Given the description of an element on the screen output the (x, y) to click on. 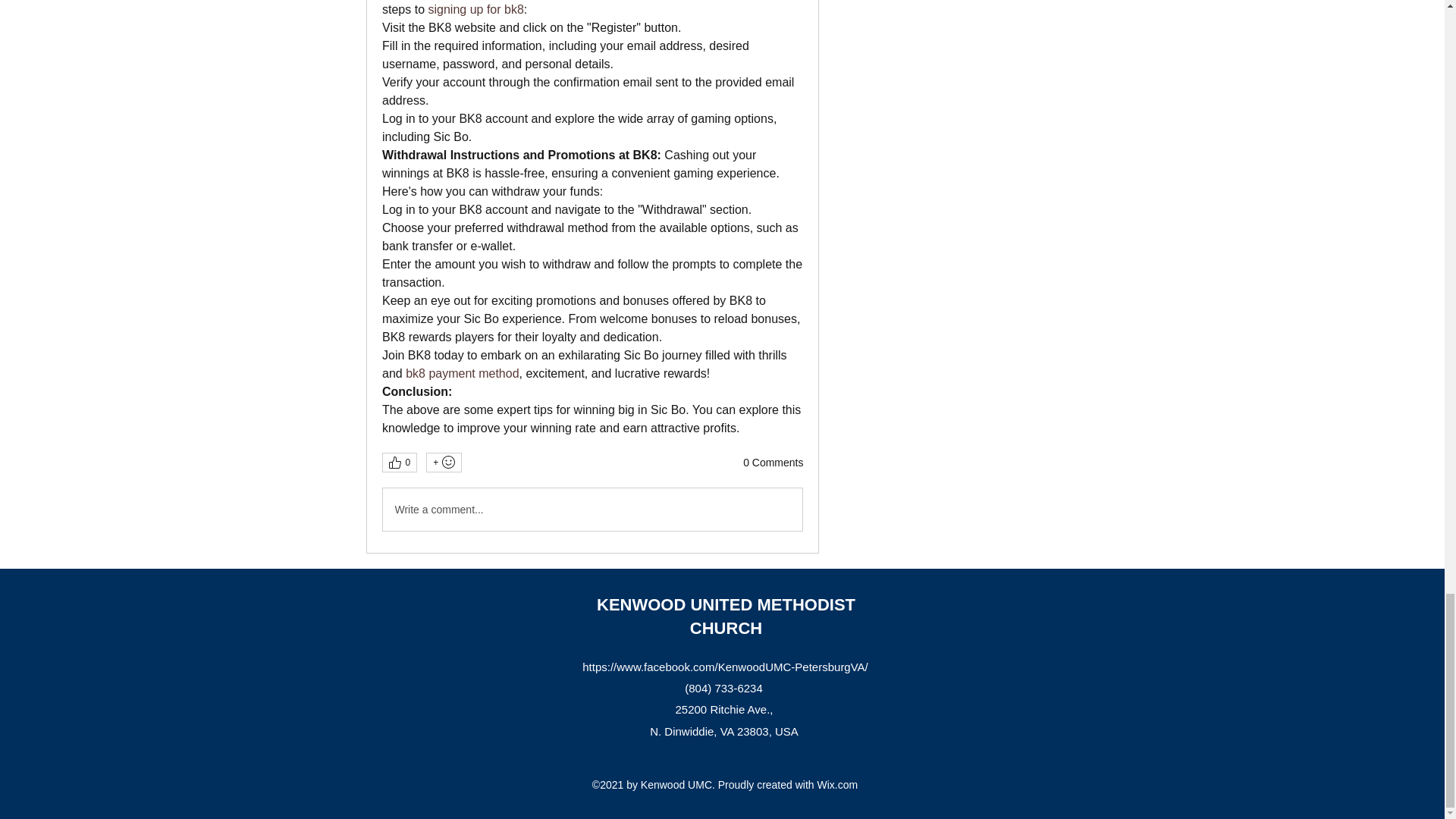
Write a comment... (591, 509)
bk8 payment method (462, 373)
0 Comments (772, 462)
signing up for bk8 (475, 9)
